Given the description of an element on the screen output the (x, y) to click on. 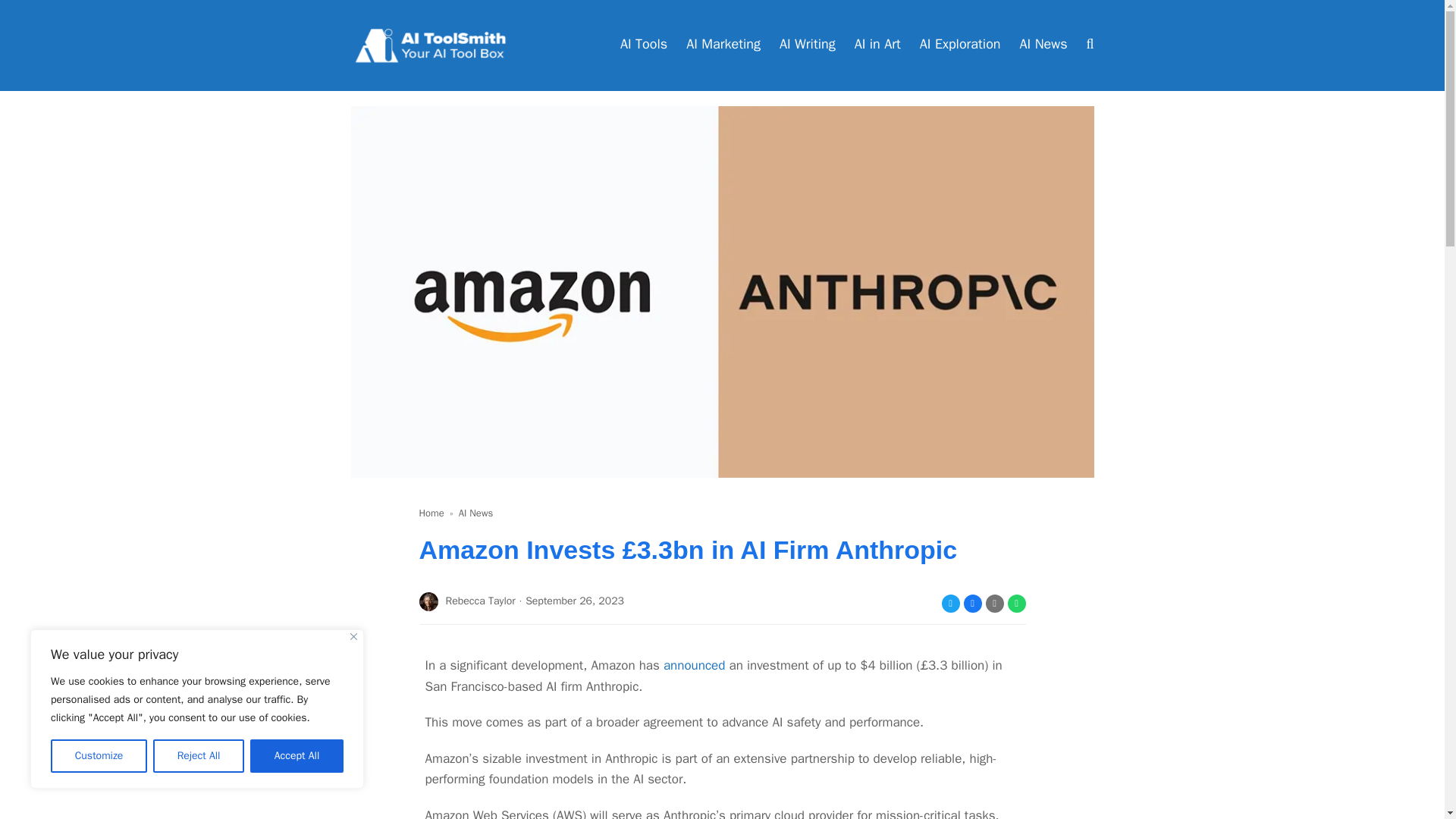
Rebecca Taylor (467, 601)
AI Writing (806, 45)
Share on Twitter (950, 603)
Share on Facebook (972, 603)
AI News (1043, 45)
Home (431, 512)
AI Tools (643, 45)
Accept All (296, 756)
Reject All (198, 756)
AI in Art (877, 45)
AI Marketing (722, 45)
AI Exploration (960, 45)
AI News (475, 512)
Share via Email (994, 603)
Customize (98, 756)
